Given the description of an element on the screen output the (x, y) to click on. 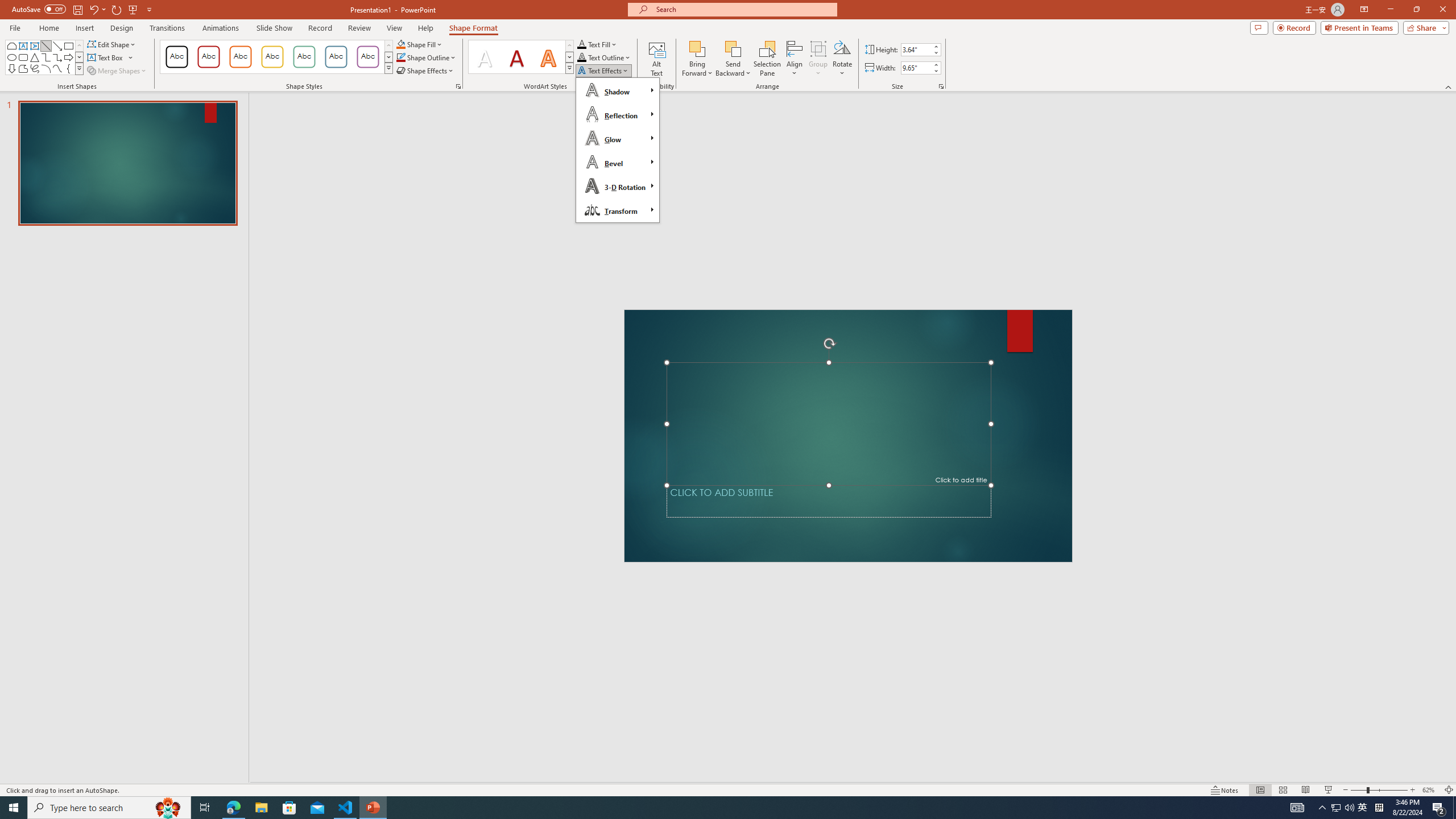
Draw Horizontal Text Box (105, 56)
Colored Outline - Black, Dark 1 (176, 56)
